Given the description of an element on the screen output the (x, y) to click on. 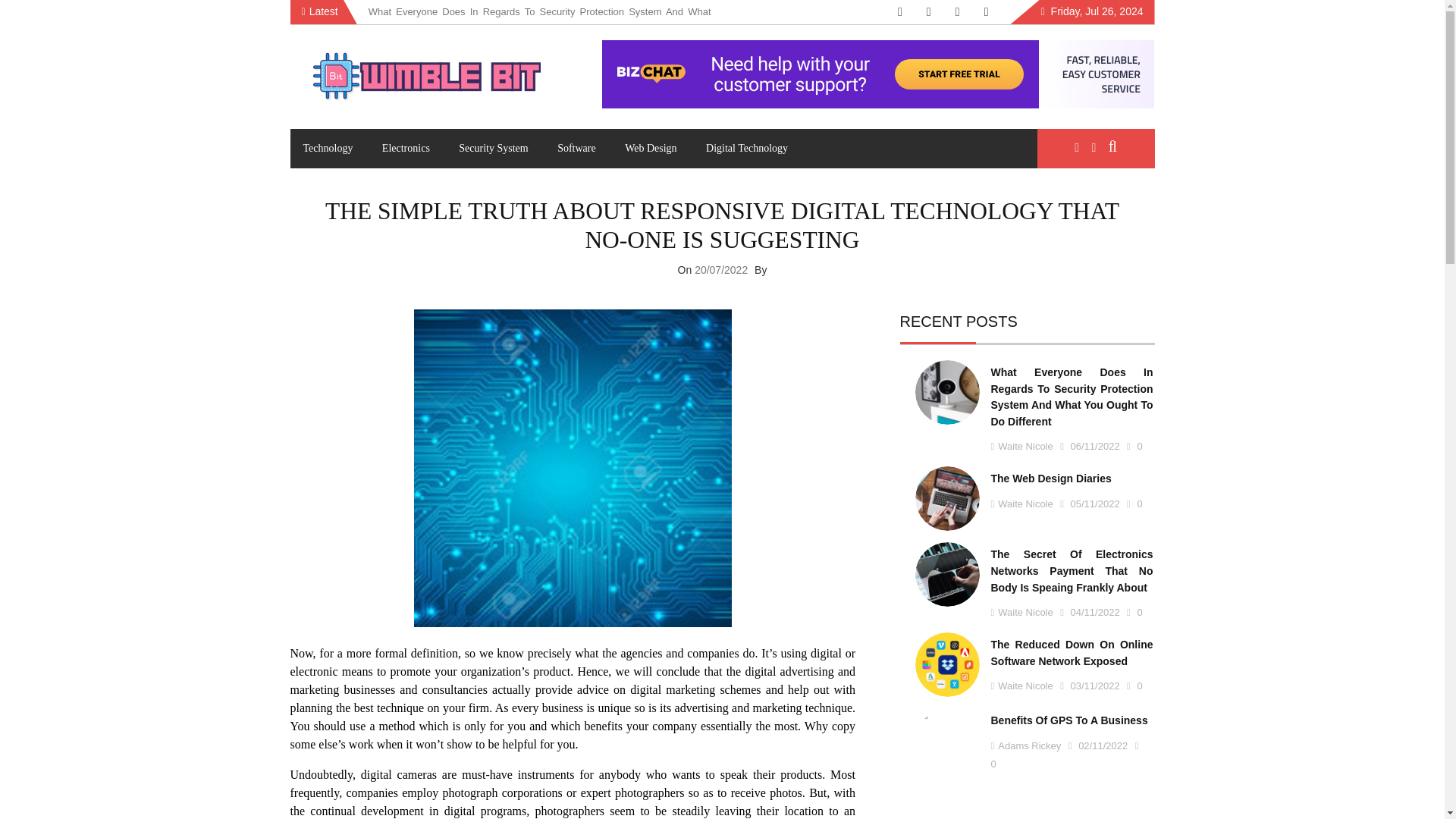
Electronics (405, 148)
Digital Technology (746, 148)
Security System (492, 148)
Wimble Bit (349, 128)
Web Design (649, 148)
Software (576, 148)
Technology (327, 148)
